Given the description of an element on the screen output the (x, y) to click on. 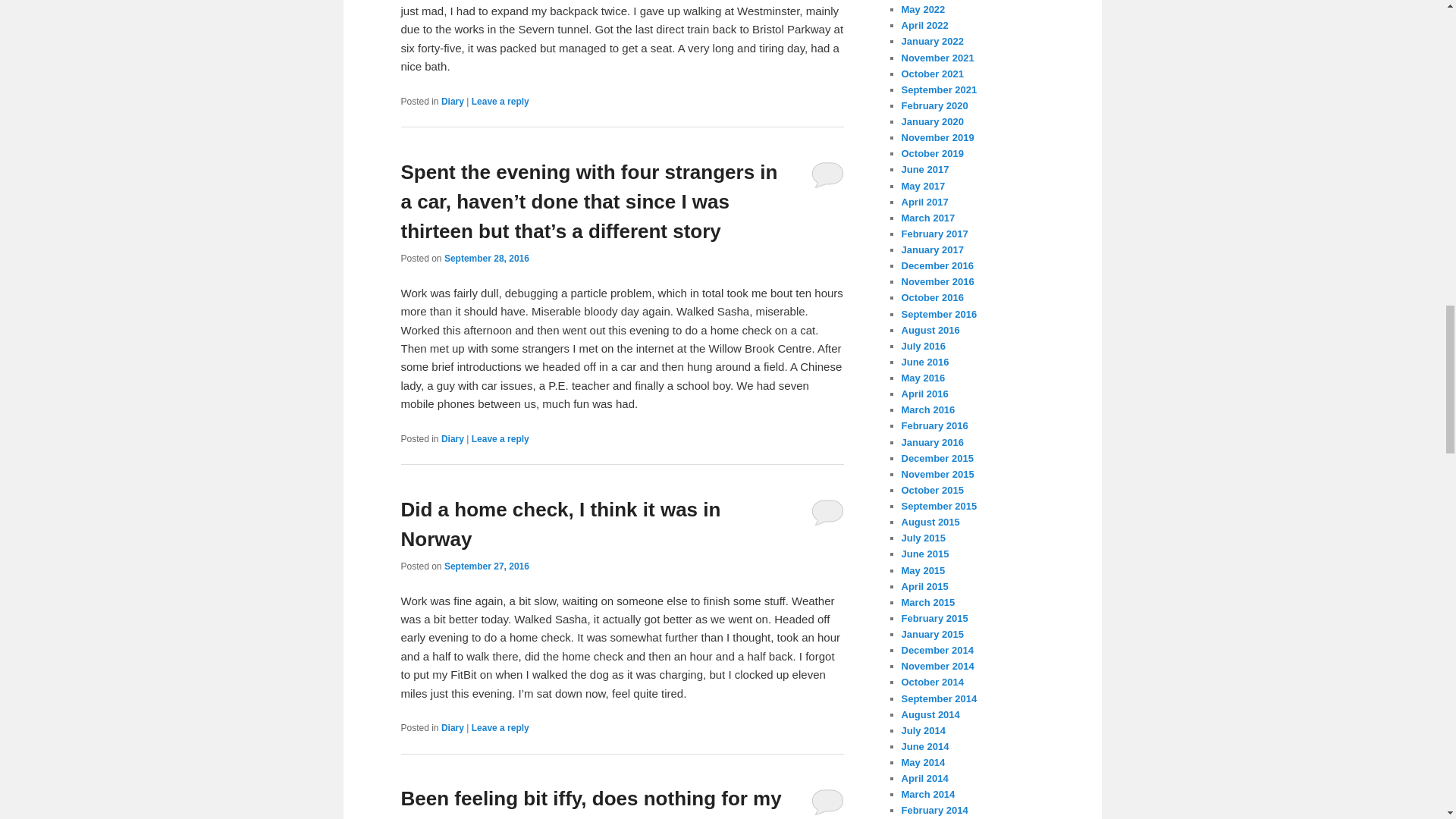
11:32 pm (486, 566)
11:18 pm (486, 258)
Leave a reply (500, 101)
Diary (452, 101)
Leave a reply (500, 727)
Did a home check, I think it was in Norway (560, 523)
Been feeling bit iffy, does nothing for my mood (590, 803)
Diary (452, 439)
Diary (452, 727)
September 27, 2016 (486, 566)
